Given the description of an element on the screen output the (x, y) to click on. 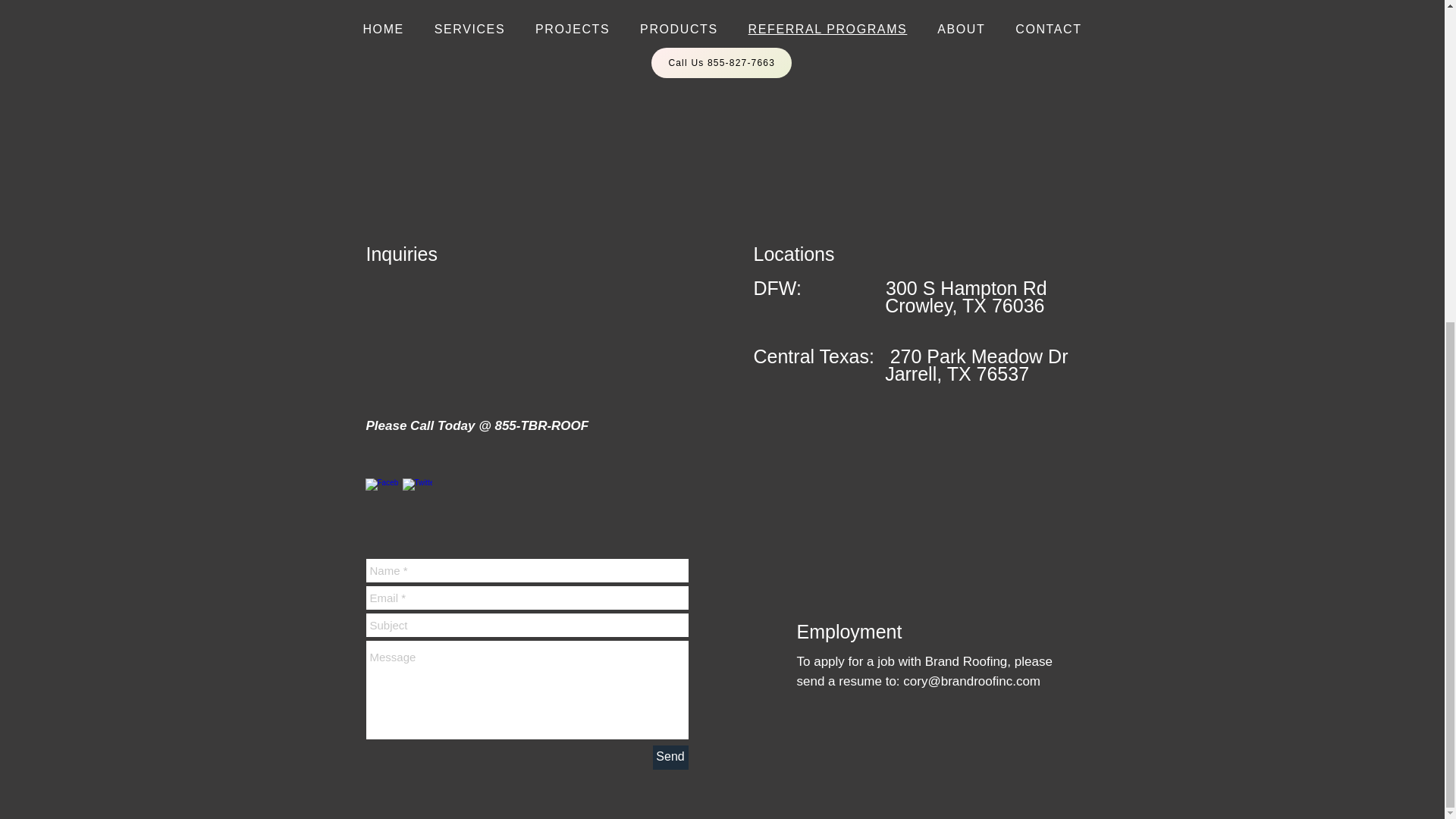
Send (669, 756)
